Given the description of an element on the screen output the (x, y) to click on. 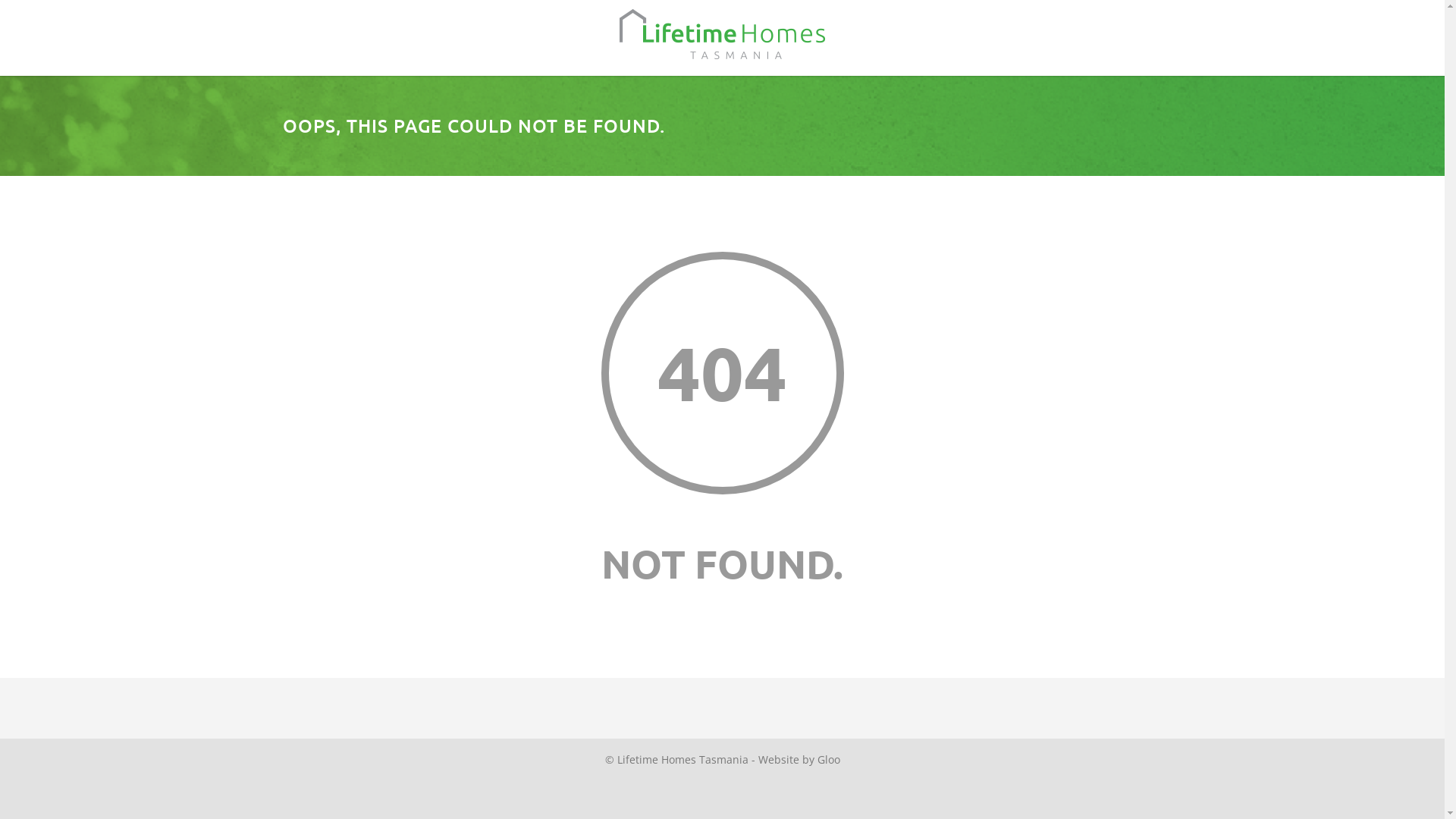
Gloo Element type: text (828, 759)
